Given the description of an element on the screen output the (x, y) to click on. 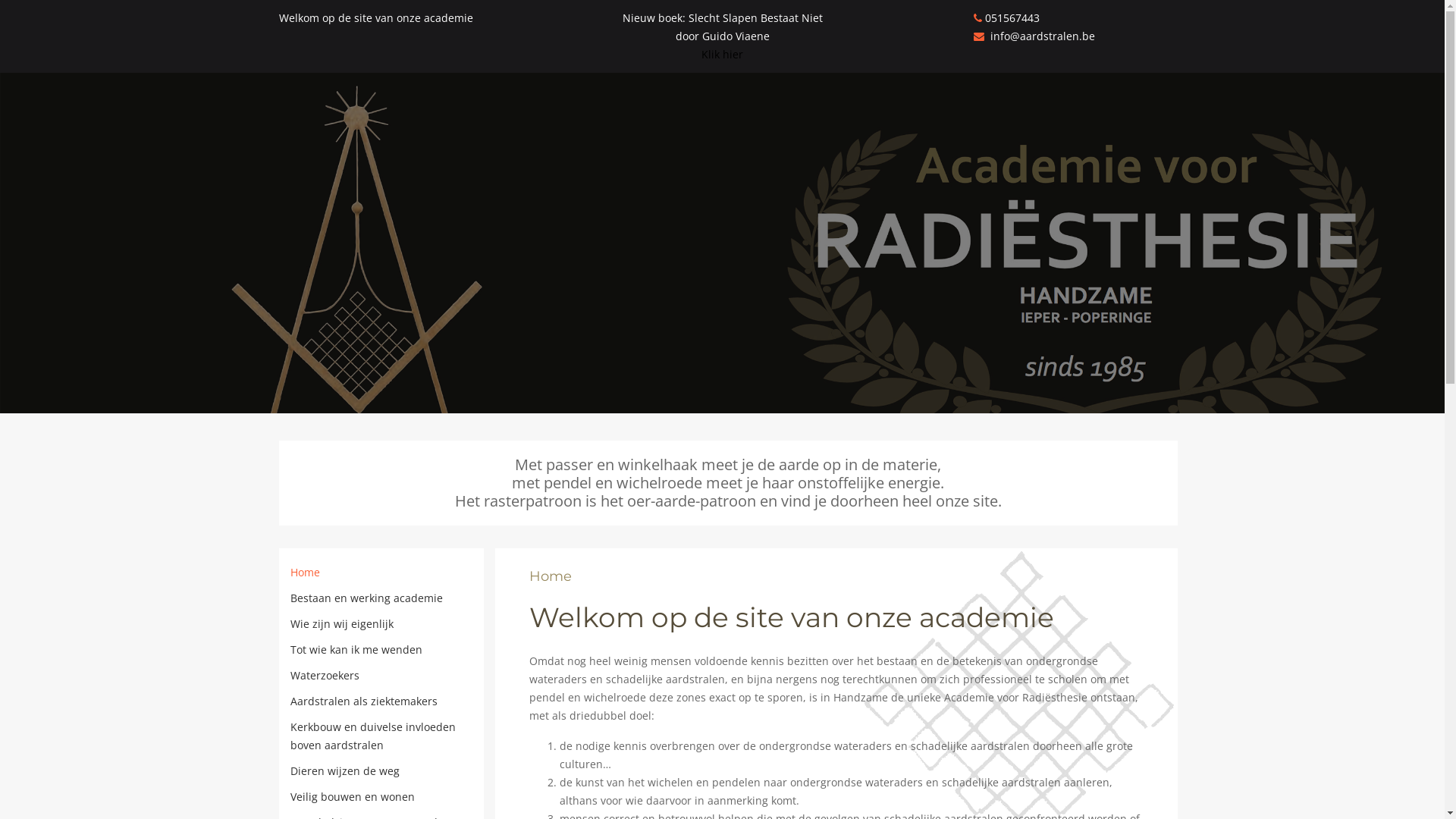
Tot wie kan ik me wenden Element type: text (355, 649)
Home Element type: text (550, 575)
051567443 Element type: text (1006, 17)
Waterzoekers Element type: text (323, 675)
info@aardstralen.be Element type: text (1034, 35)
Veilig bouwen en wonen Element type: text (351, 796)
Home Element type: text (304, 571)
Bestaan en werking academie Element type: text (365, 597)
Wie zijn wij eigenlijk Element type: text (340, 623)
Kerkbouw en duivelse invloeden boven aardstralen Element type: text (372, 735)
Dieren wijzen de weg Element type: text (343, 770)
Aardstralen als ziektemakers Element type: text (362, 700)
